Given the description of an element on the screen output the (x, y) to click on. 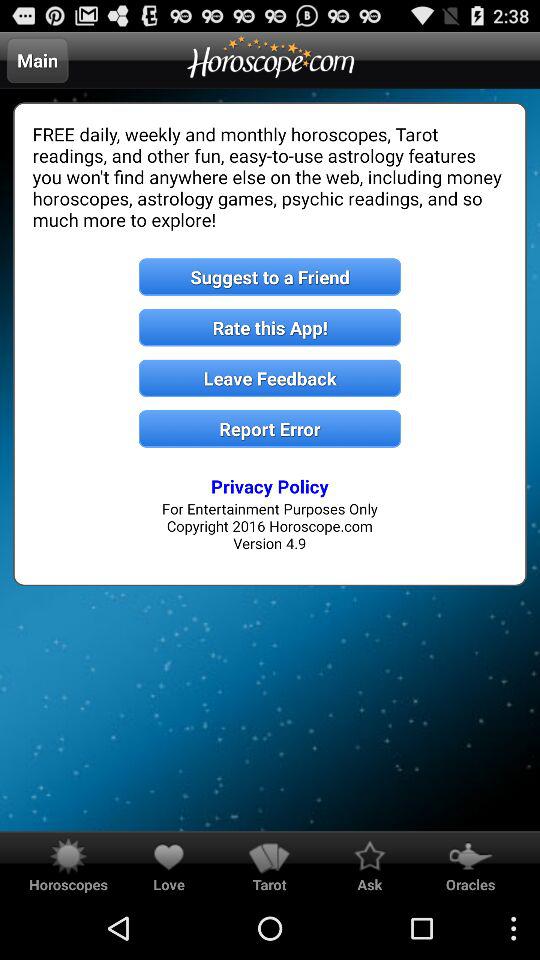
tap privacy policy (269, 486)
